Given the description of an element on the screen output the (x, y) to click on. 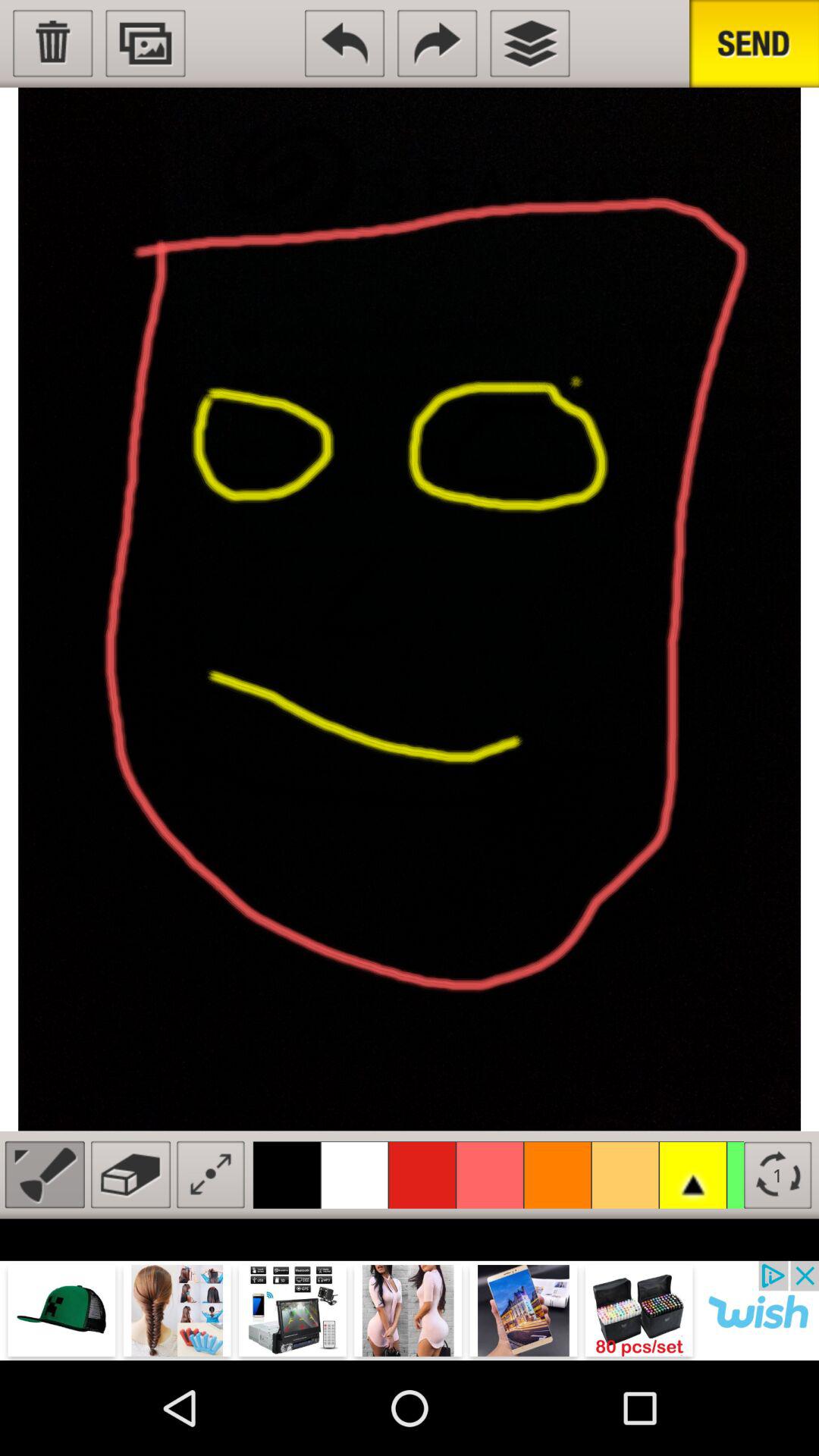
view layers (529, 43)
